Given the description of an element on the screen output the (x, y) to click on. 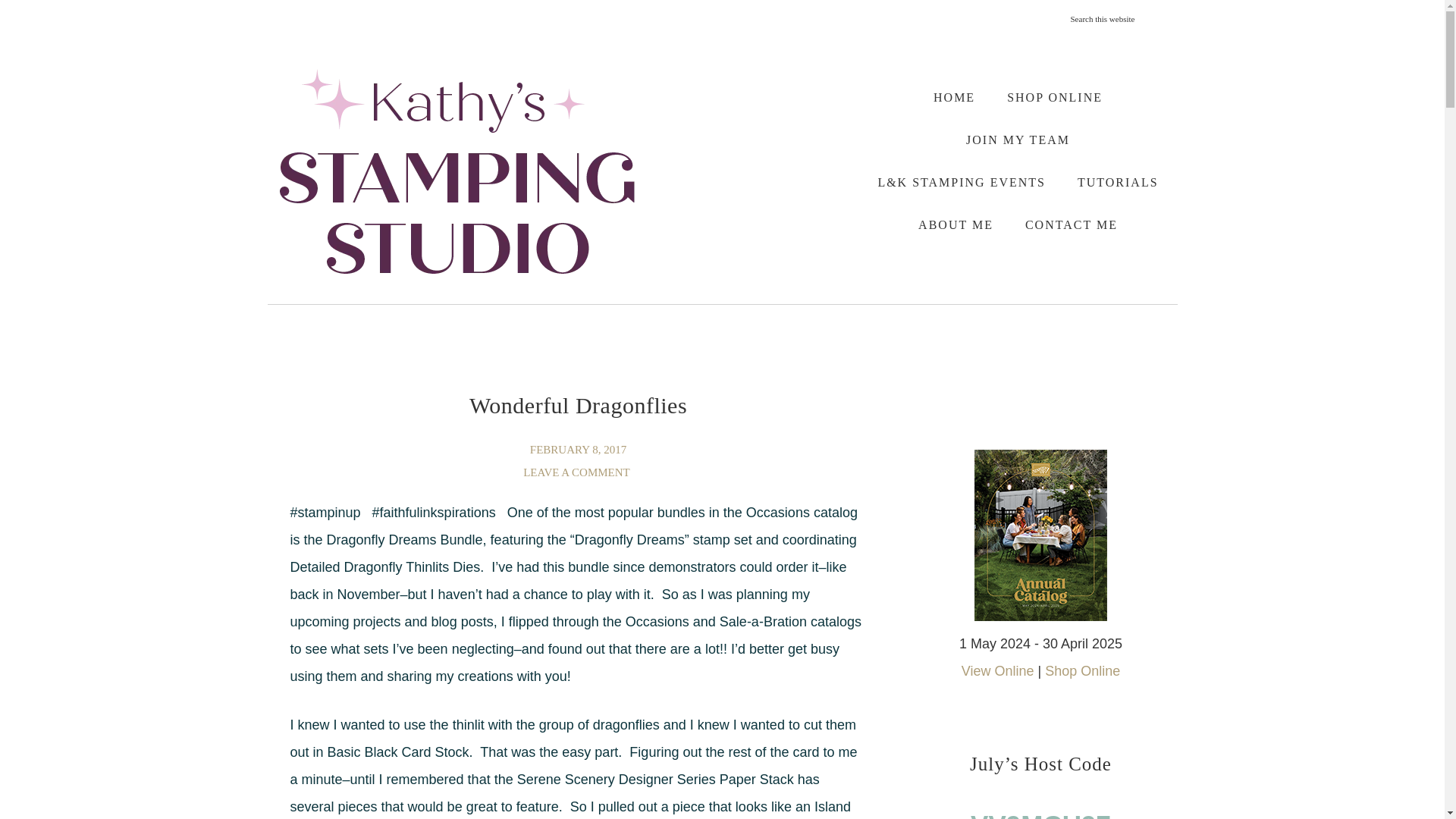
KATHYS STAMPING STUDIO (456, 171)
TUTORIALS (1118, 182)
View Online (996, 670)
JOIN MY TEAM (1017, 139)
ABOUT ME (955, 224)
CONTACT ME (1071, 224)
HOME (954, 97)
SHOP ONLINE (1054, 97)
LEAVE A COMMENT (577, 472)
